Given the description of an element on the screen output the (x, y) to click on. 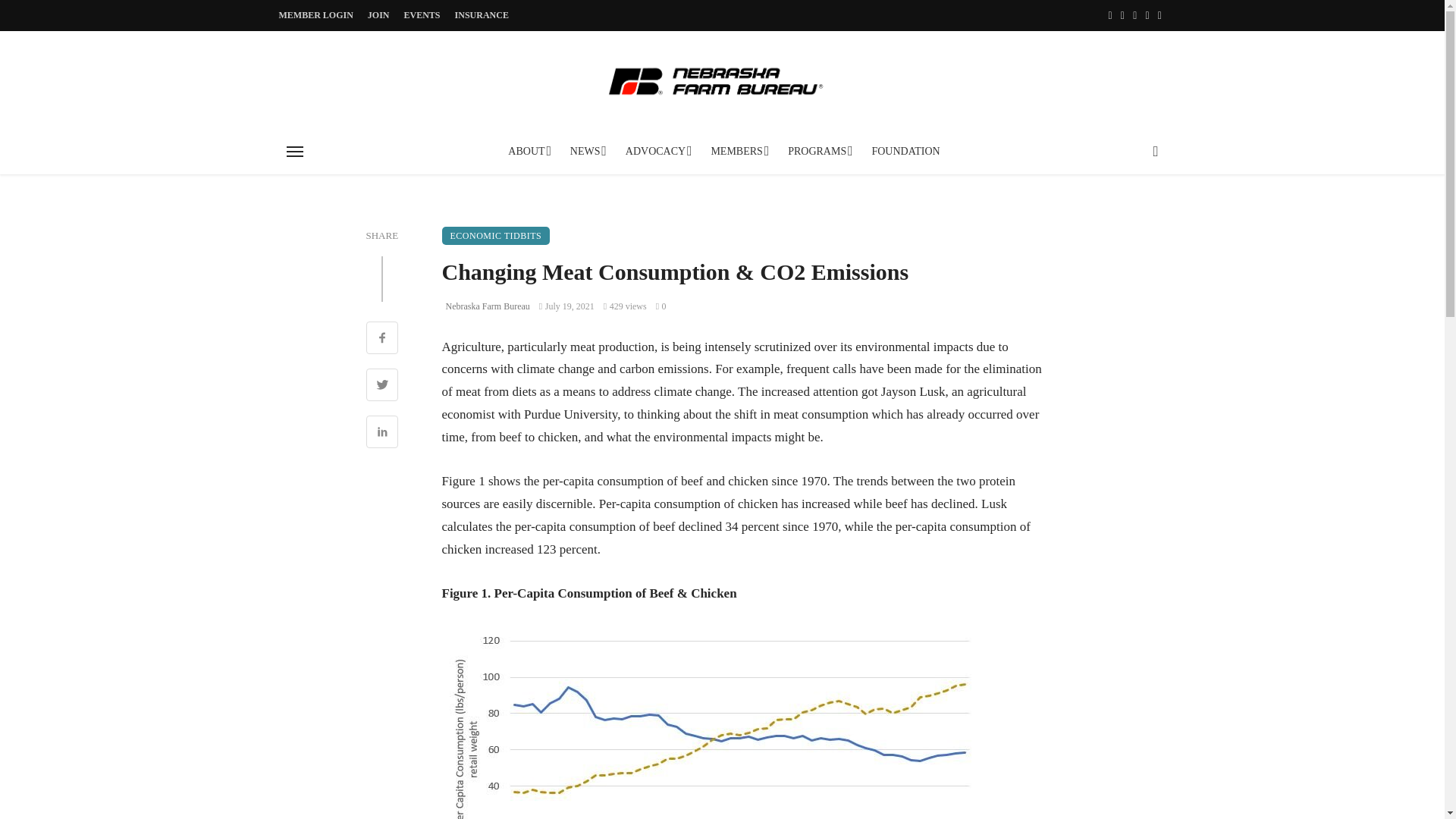
July 19, 2021 at 2:45 pm (566, 306)
ABOUT (527, 151)
INSURANCE (481, 14)
0 Comments (661, 306)
Share on Facebook (381, 339)
Share on Twitter (381, 386)
NEWS (586, 151)
JOIN (378, 14)
ADVOCACY (657, 151)
Share on Linkedin (381, 433)
MEMBER LOGIN (316, 14)
EVENTS (421, 14)
